Given the description of an element on the screen output the (x, y) to click on. 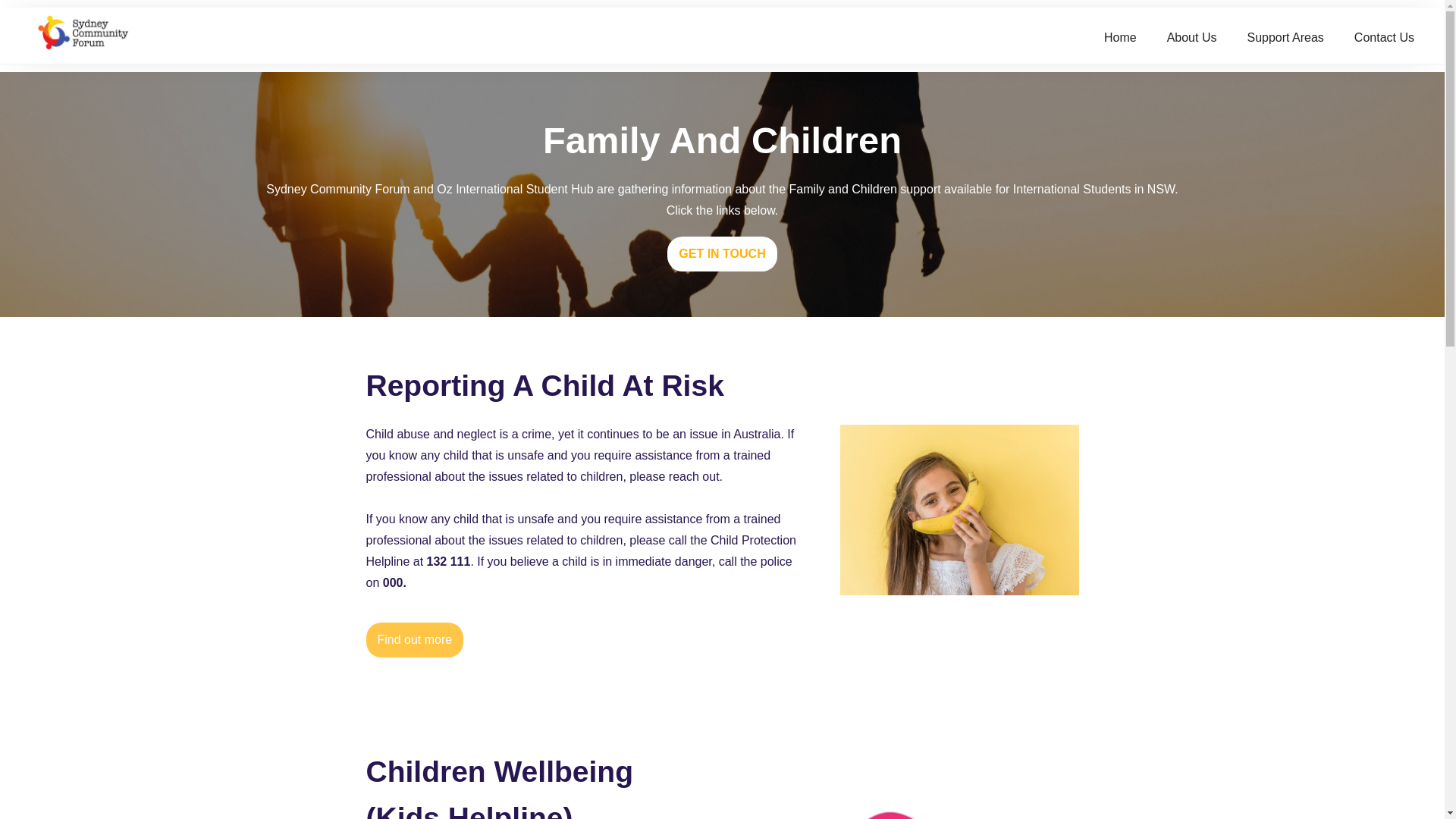
About Us Element type: text (1191, 37)
Find out more Element type: text (414, 639)
Contact Us Element type: text (1384, 37)
GET IN TOUCH Element type: text (721, 253)
Support Areas Element type: text (1284, 37)
Home Element type: text (1119, 37)
